Given the description of an element on the screen output the (x, y) to click on. 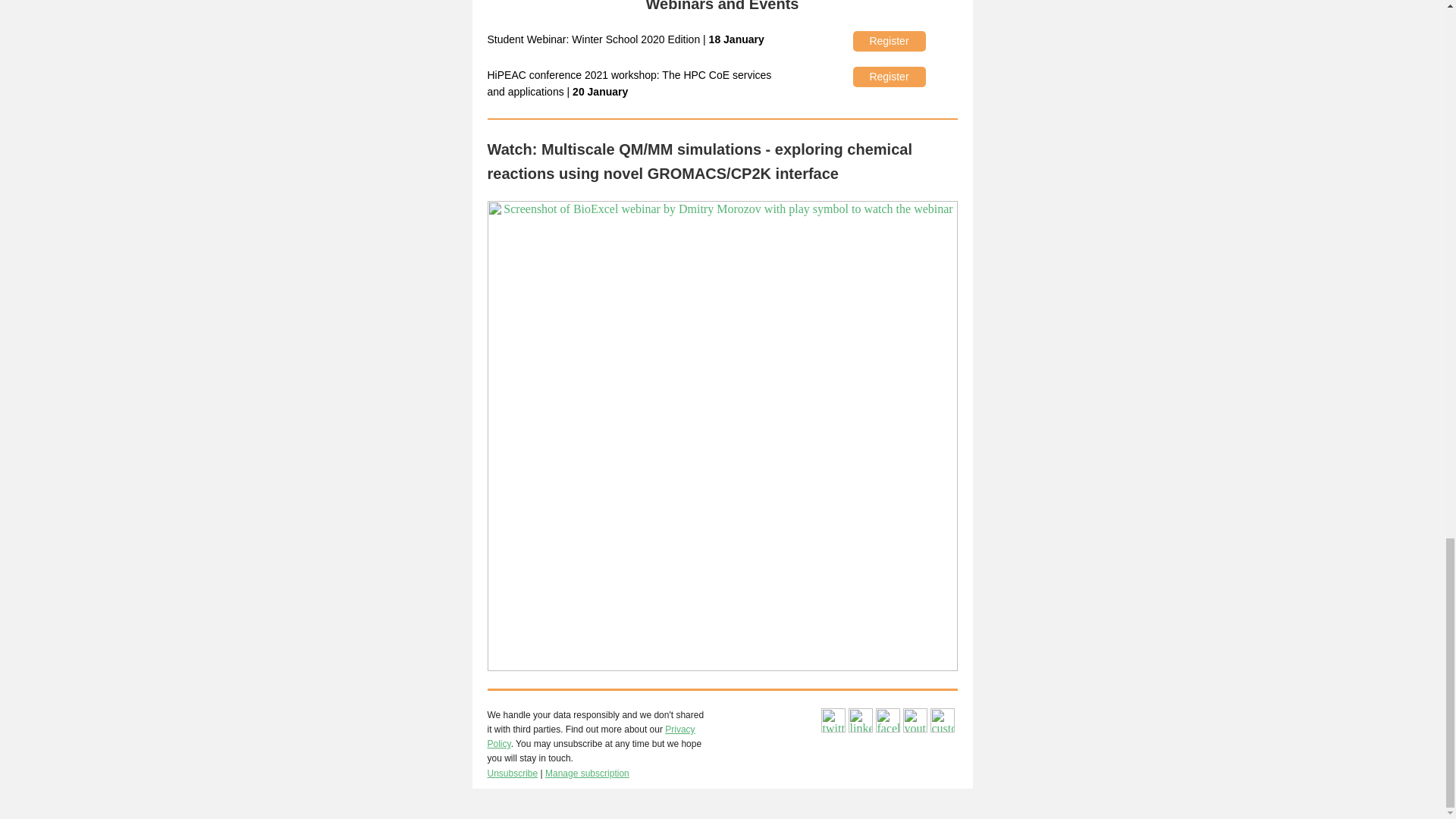
Register (887, 76)
Manage subscription (586, 773)
Unsubscribe (511, 773)
Register (887, 41)
Privacy Policy (590, 736)
